Given the description of an element on the screen output the (x, y) to click on. 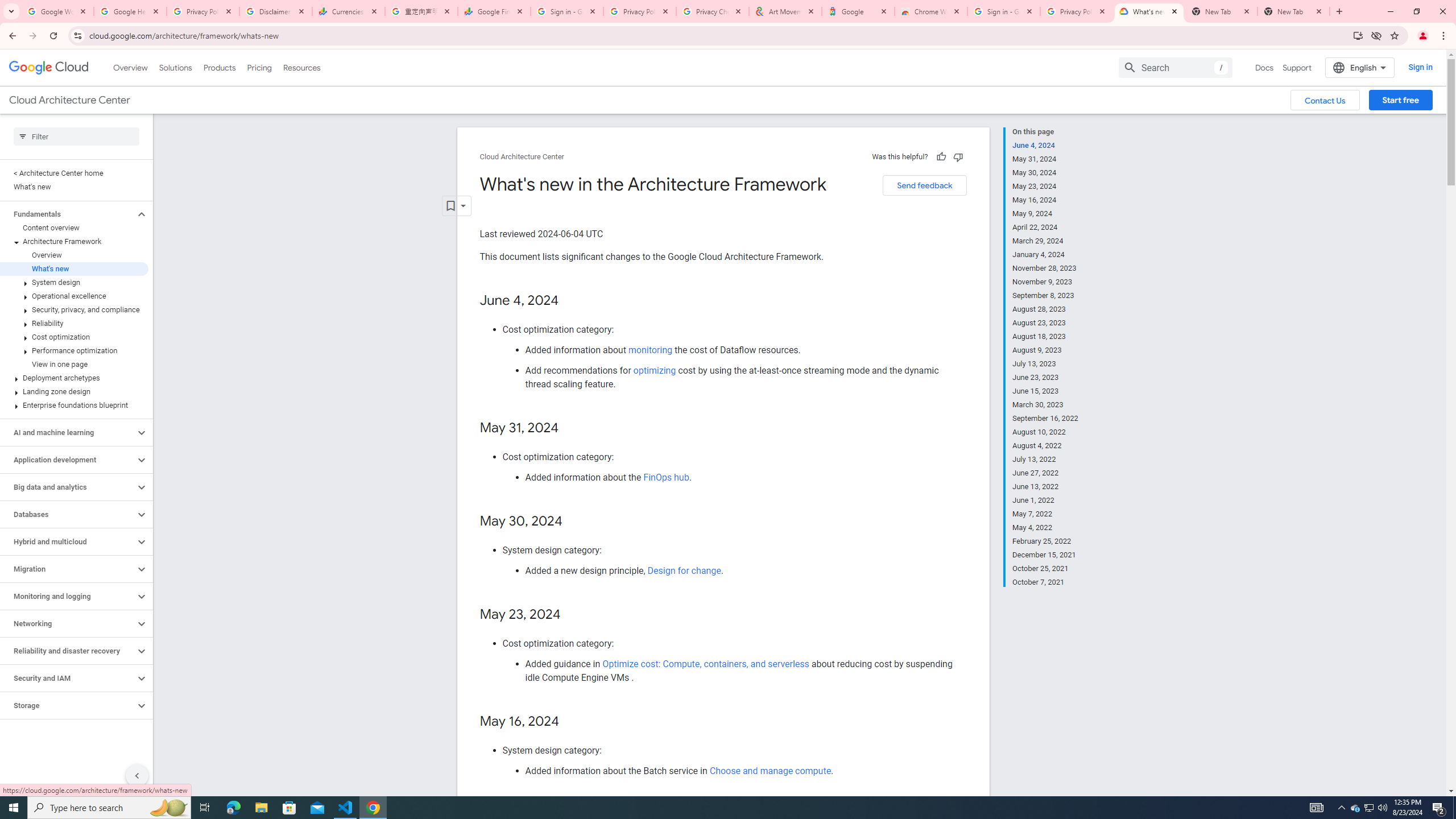
Copy link to this section: May 23, 2024 (571, 614)
FinOps hub (665, 477)
May 7, 2022 (1044, 513)
Contact Us (1324, 100)
May 30, 2024 (1044, 172)
Search (1174, 67)
Databases (67, 514)
July 13, 2022 (1044, 459)
